Given the description of an element on the screen output the (x, y) to click on. 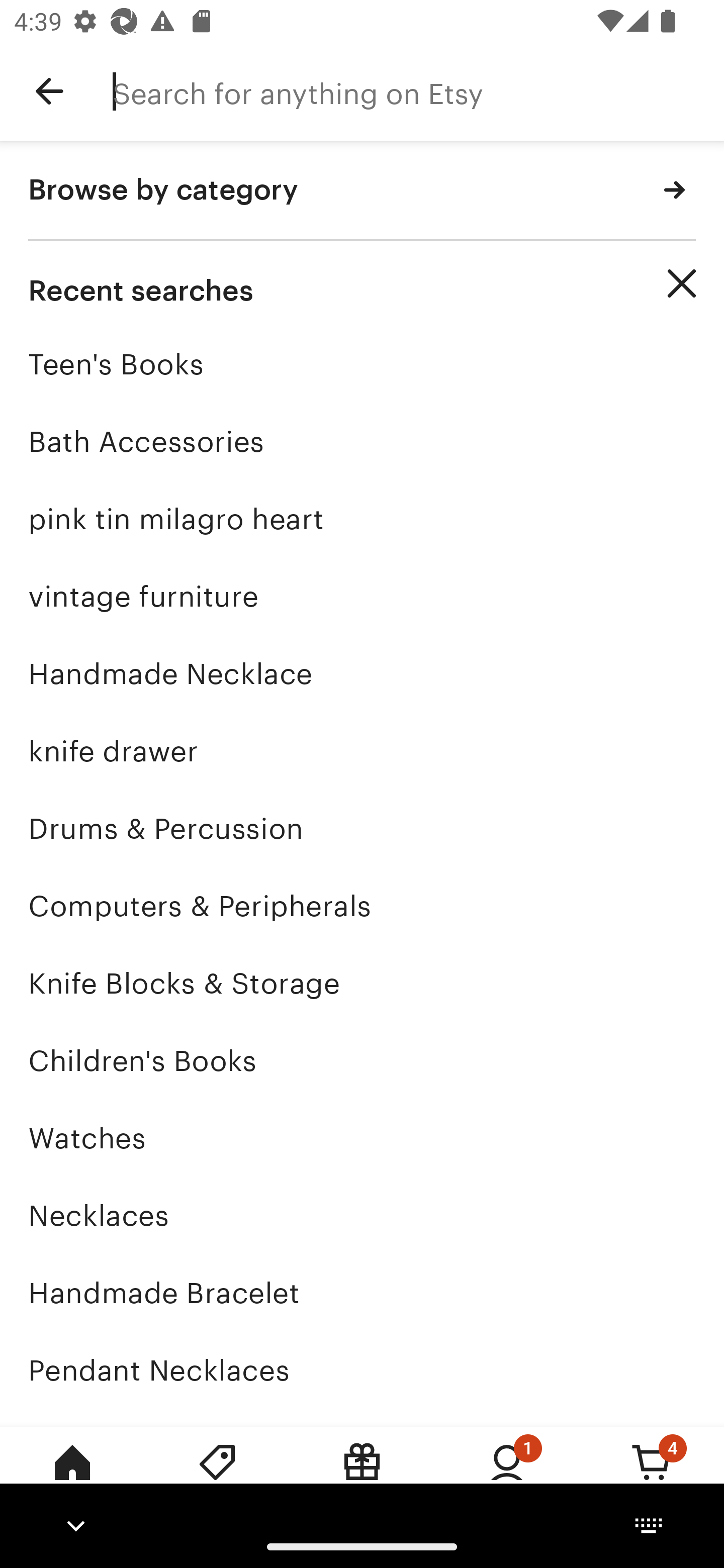
Navigate up (49, 91)
Search for anything on Etsy (418, 91)
Browse by category (362, 191)
Clear (681, 283)
Teen's Books (362, 364)
Bath Accessories (362, 440)
pink tin milagro heart (362, 518)
vintage furniture (362, 596)
Handmade Necklace (362, 673)
knife drawer (362, 750)
Drums & Percussion (362, 828)
Computers & Peripherals (362, 906)
Knife Blocks & Storage (362, 983)
Children's Books (362, 1060)
Watches (362, 1138)
Necklaces (362, 1215)
Handmade Bracelet (362, 1292)
Pendant Necklaces (362, 1370)
Deals (216, 1475)
Gift Mode (361, 1475)
You, 1 new notification (506, 1475)
Cart, 4 new notifications (651, 1475)
